Given the description of an element on the screen output the (x, y) to click on. 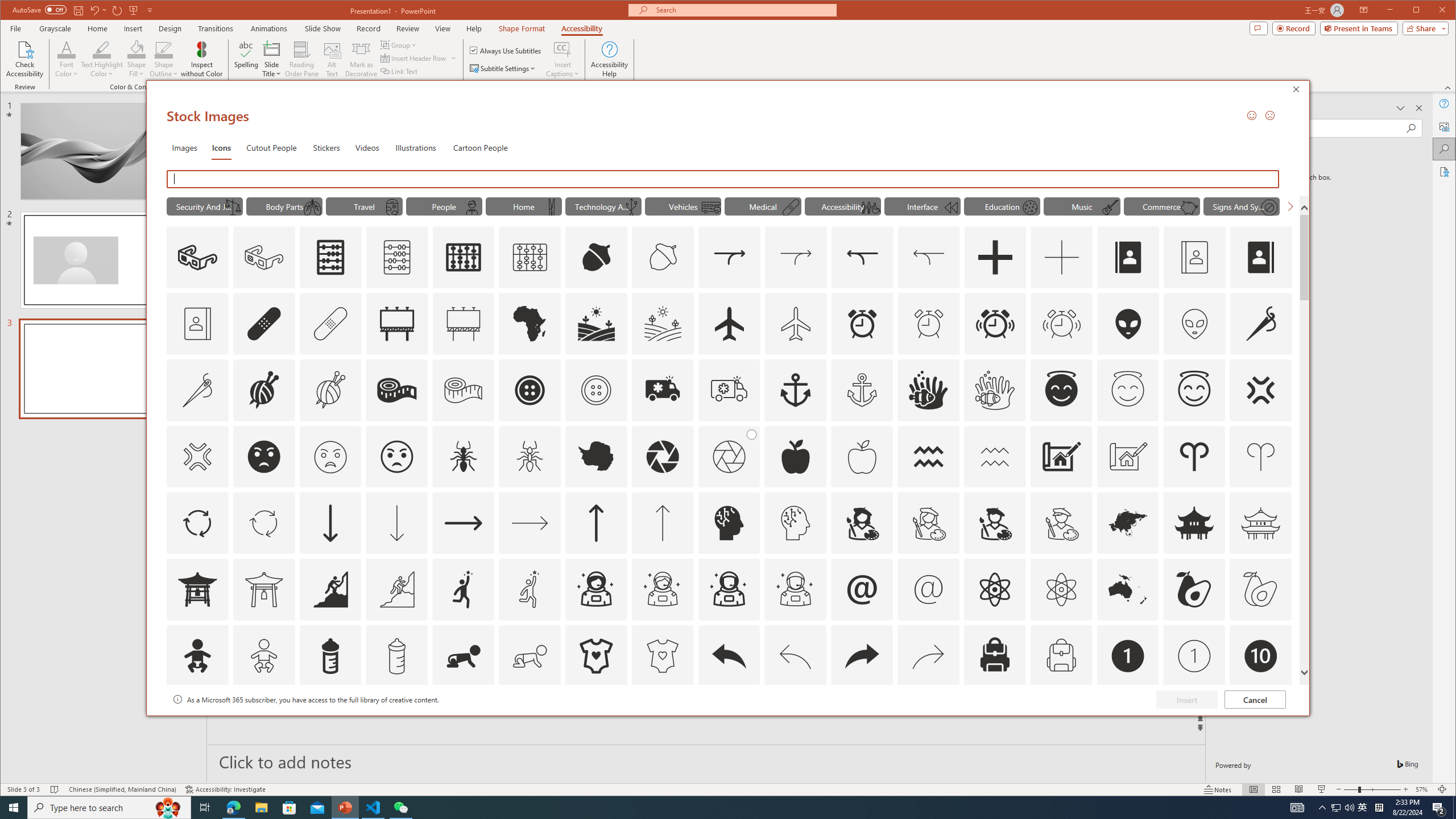
Font Color (66, 59)
AutomationID: Icons_Beginning_M (950, 207)
AutomationID: Icons_AdhesiveBandage_M (330, 323)
Visual Studio Code - 1 running window (373, 807)
AutomationID: Icons_AlterationsTailoring3_M (595, 389)
